Given the description of an element on the screen output the (x, y) to click on. 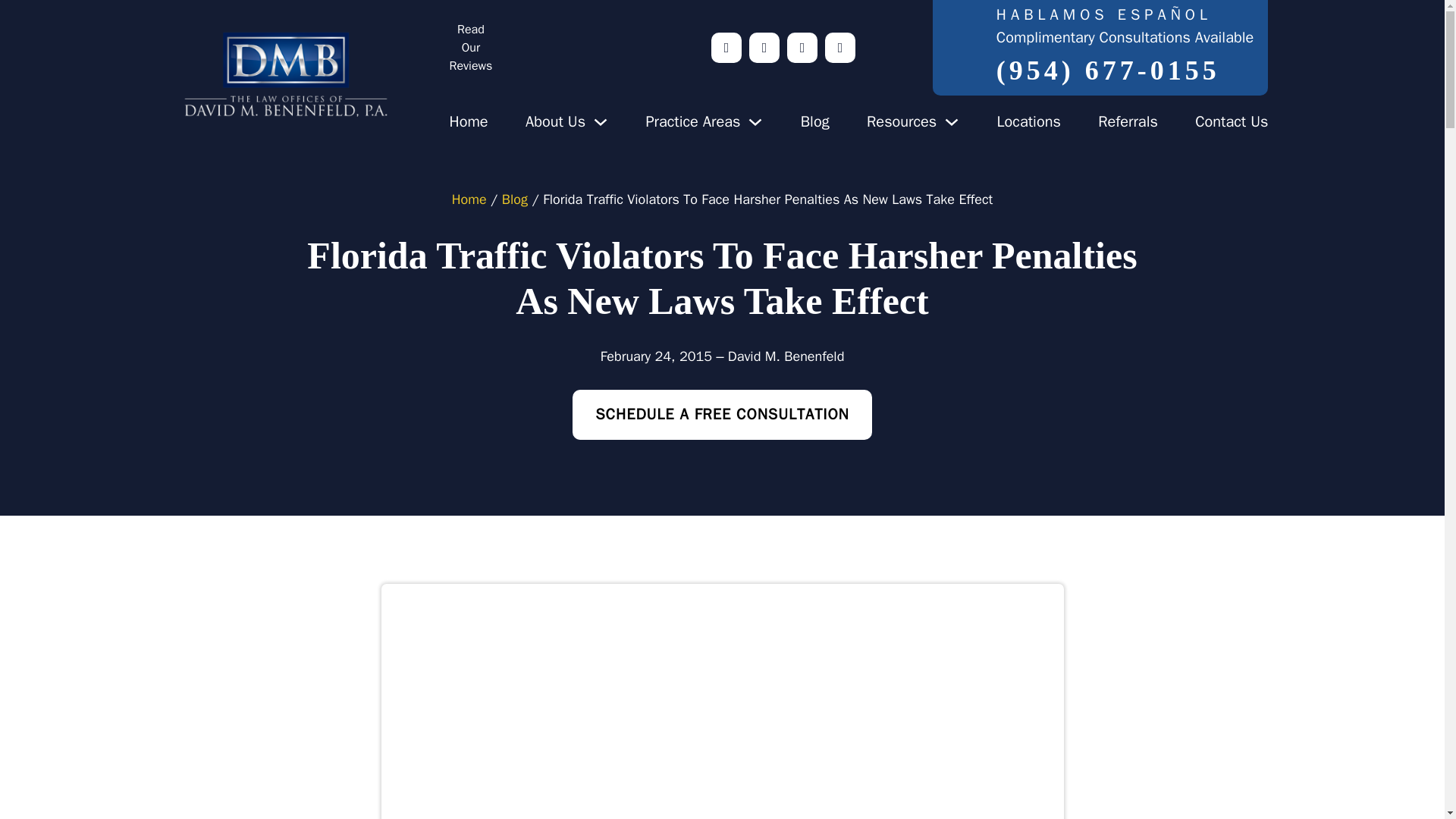
Resources (901, 121)
Practice Areas (692, 121)
About Us (555, 121)
Home (467, 121)
Practice Areas (692, 121)
Home Page (467, 121)
Read Our Reviews (575, 47)
Contact Us (1231, 121)
Injury Blog (814, 121)
